Given the description of an element on the screen output the (x, y) to click on. 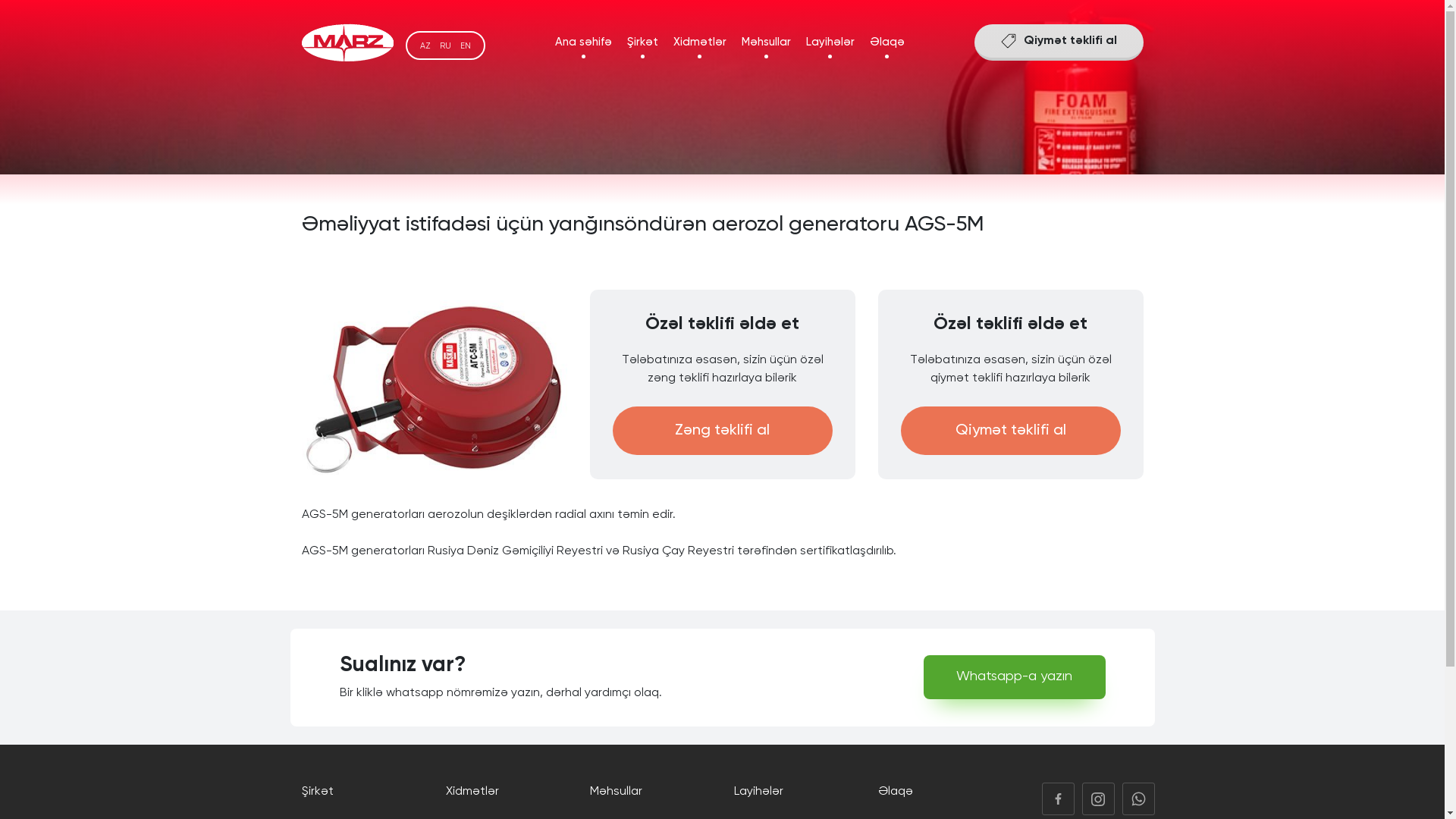
EN Element type: text (464, 45)
AZ Element type: text (425, 45)
RU Element type: text (445, 45)
